Given the description of an element on the screen output the (x, y) to click on. 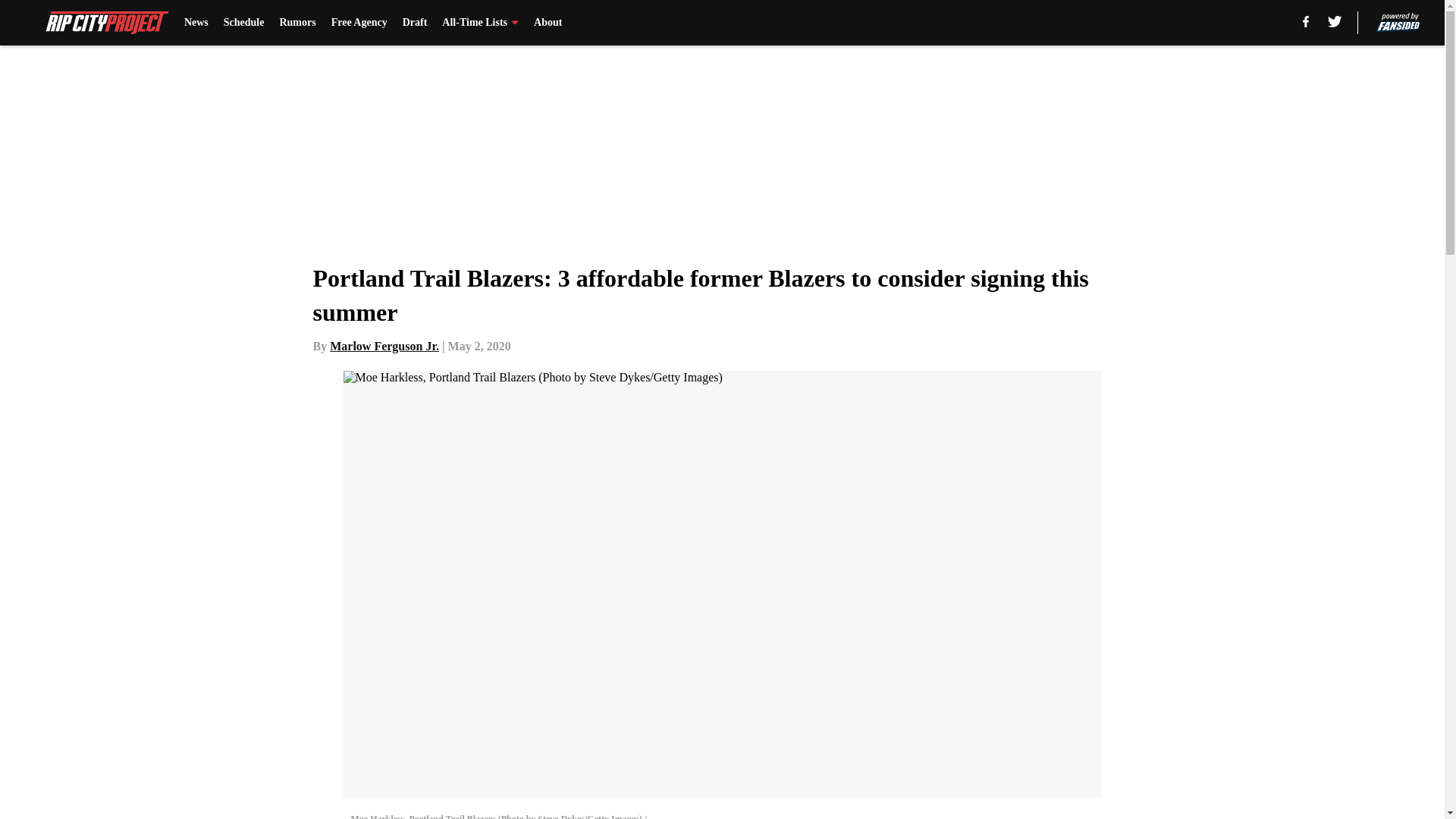
News (196, 22)
Draft (415, 22)
Free Agency (359, 22)
Marlow Ferguson Jr. (384, 345)
About (548, 22)
Rumors (297, 22)
Schedule (244, 22)
All-Time Lists (480, 22)
